Given the description of an element on the screen output the (x, y) to click on. 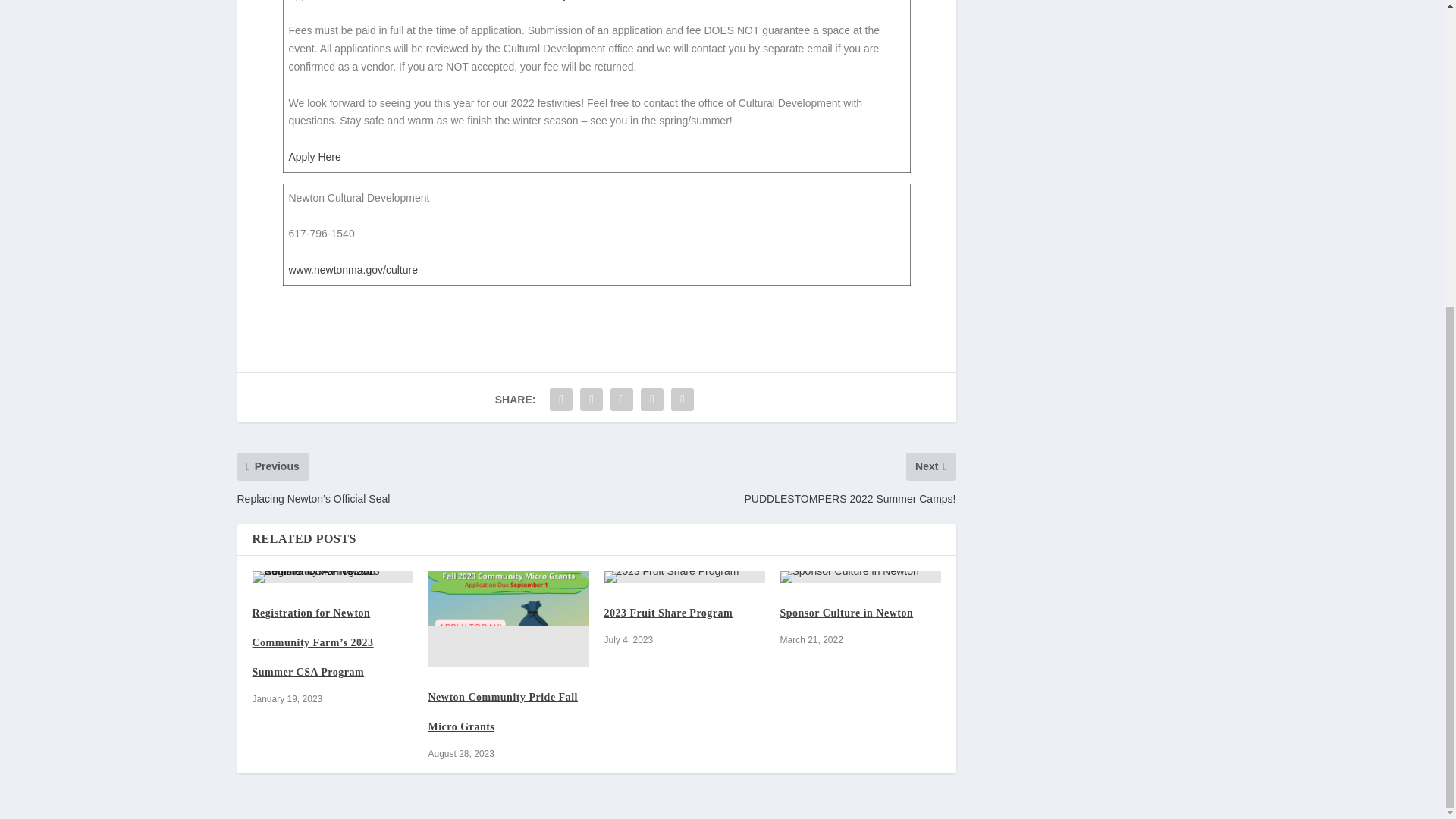
Sponsor Culture in Newton (845, 613)
Sponsor Culture in Newton (859, 576)
Newton Community Pride Fall Micro Grants (508, 618)
2023 Fruit Share Program (684, 576)
Apply Here (314, 156)
